Given the description of an element on the screen output the (x, y) to click on. 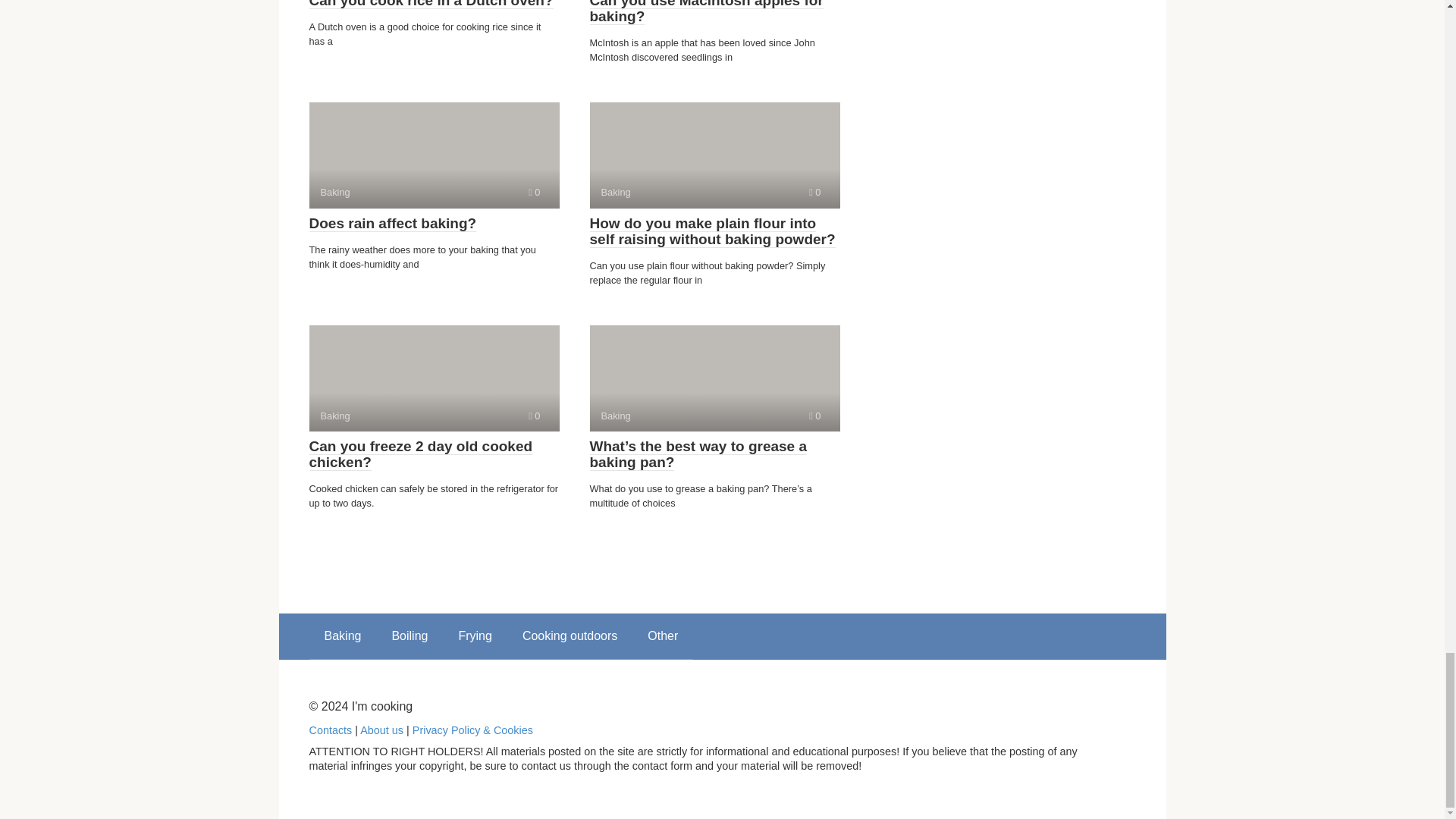
Can you freeze 2 day old cooked chicken? (420, 454)
Comments (534, 192)
Comments (433, 378)
Can you use Macintosh apples for baking? (534, 415)
Does rain affect baking? (706, 12)
Comments (714, 155)
